Given the description of an element on the screen output the (x, y) to click on. 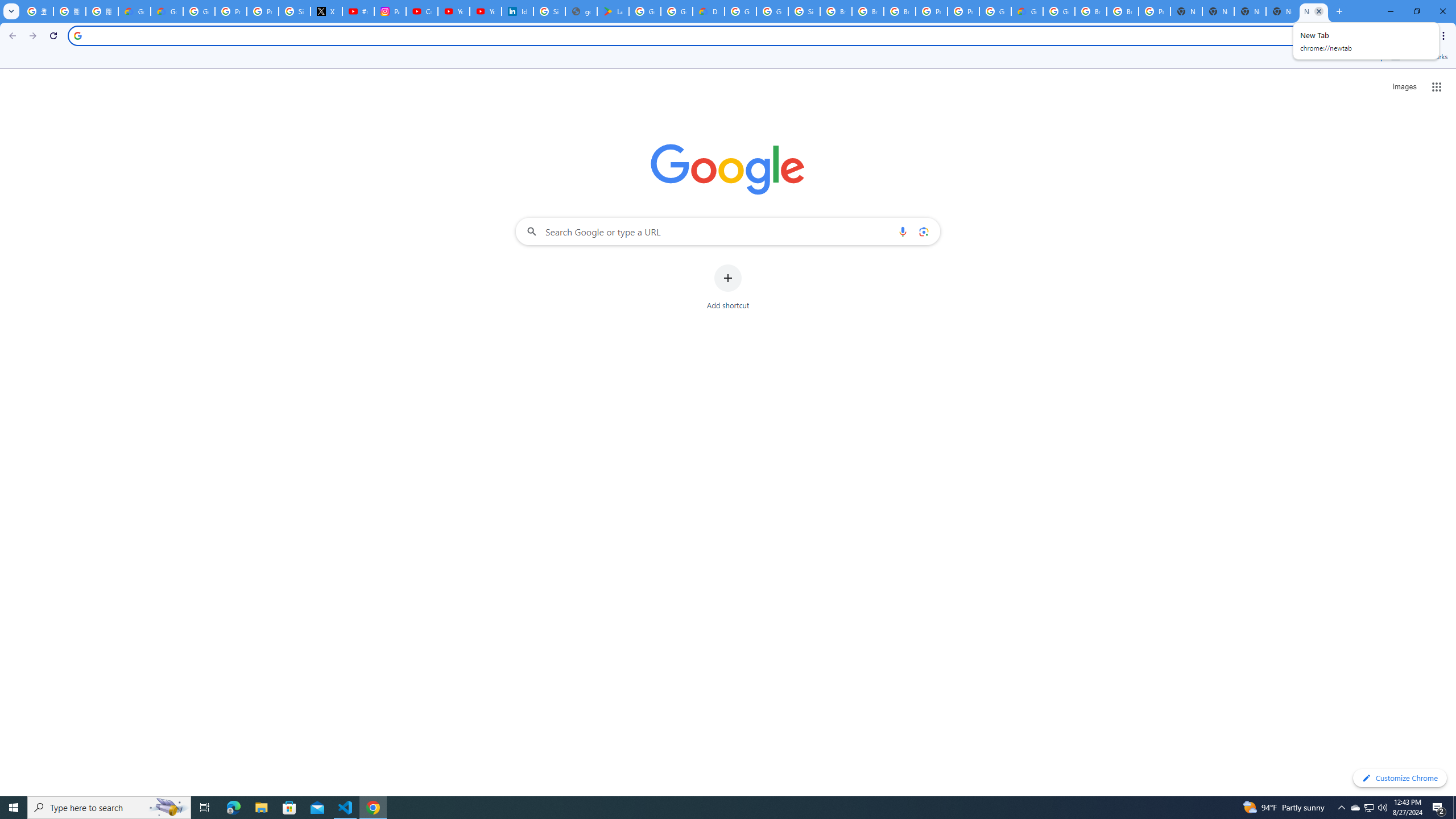
Google Workspace - Specific Terms (676, 11)
Google Cloud Privacy Notice (166, 11)
Search by image (922, 230)
Search for Images  (1403, 87)
Google Cloud Privacy Notice (134, 11)
Browse Chrome as a guest - Computer - Google Chrome Help (1123, 11)
New Tab (1281, 11)
Google Cloud Platform (1059, 11)
New Tab (1313, 11)
Search by voice (902, 230)
Sign in - Google Accounts (549, 11)
